Given the description of an element on the screen output the (x, y) to click on. 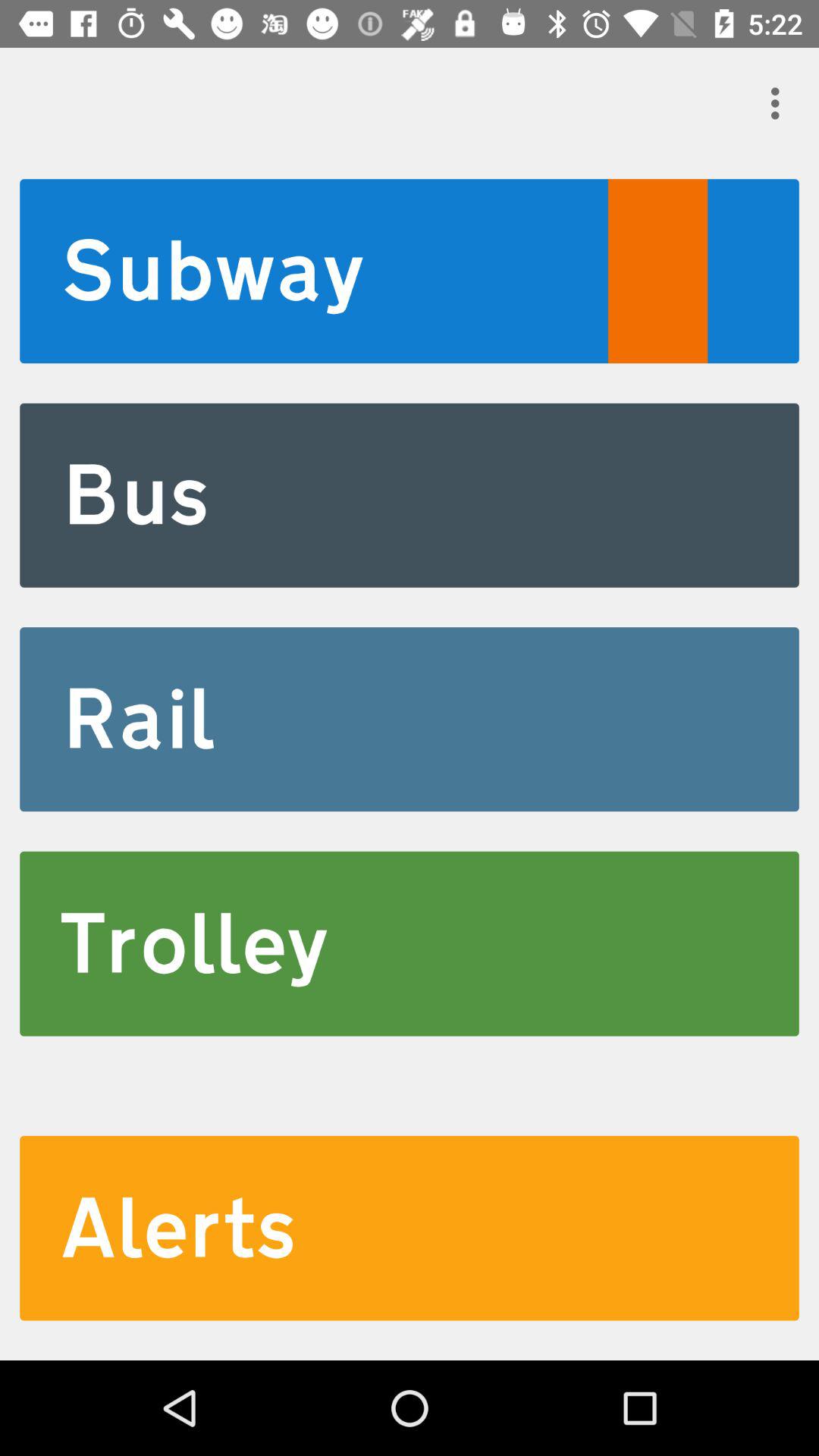
choose item above subway (779, 103)
